Given the description of an element on the screen output the (x, y) to click on. 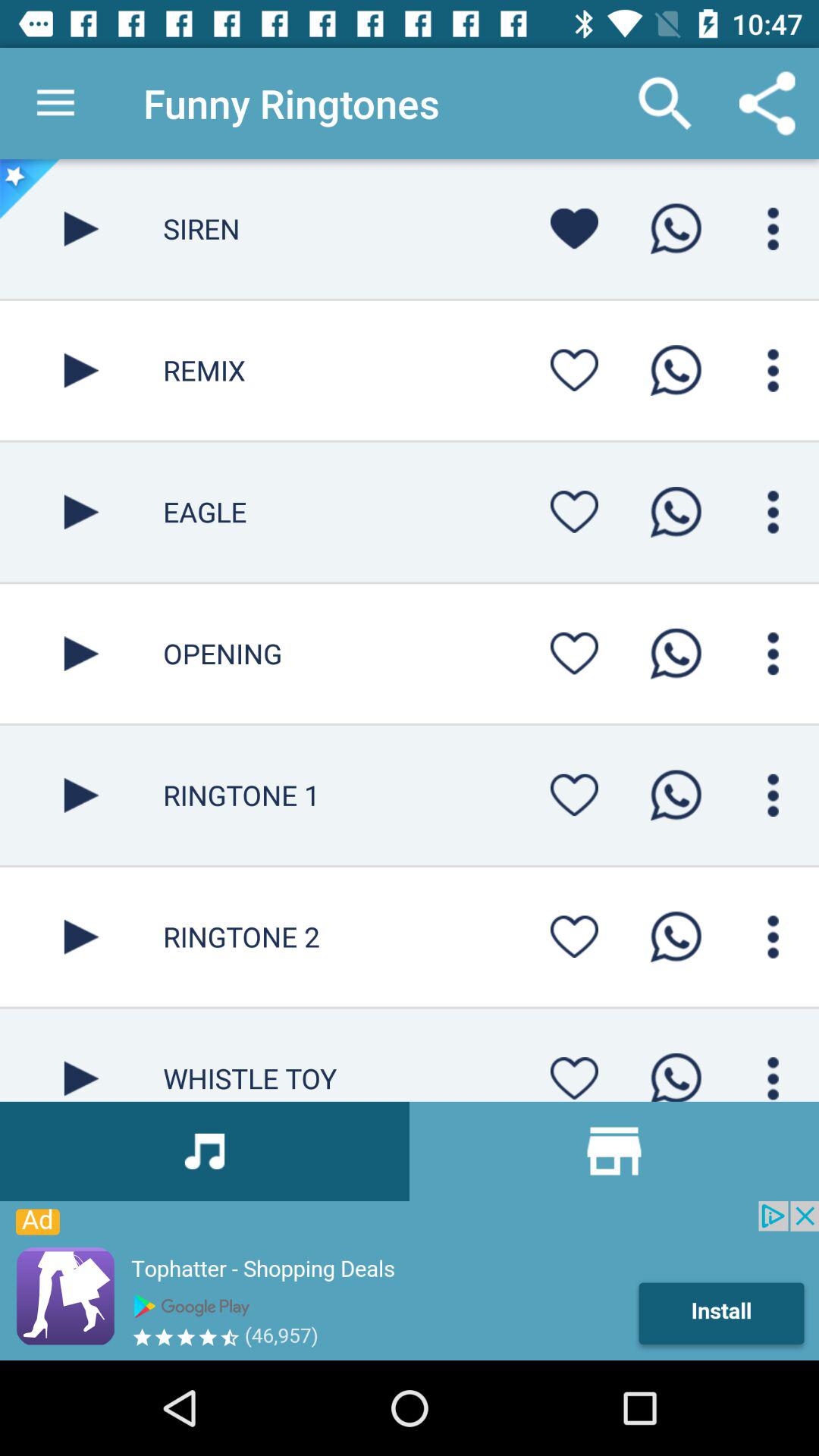
play ringtone (675, 936)
